Given the description of an element on the screen output the (x, y) to click on. 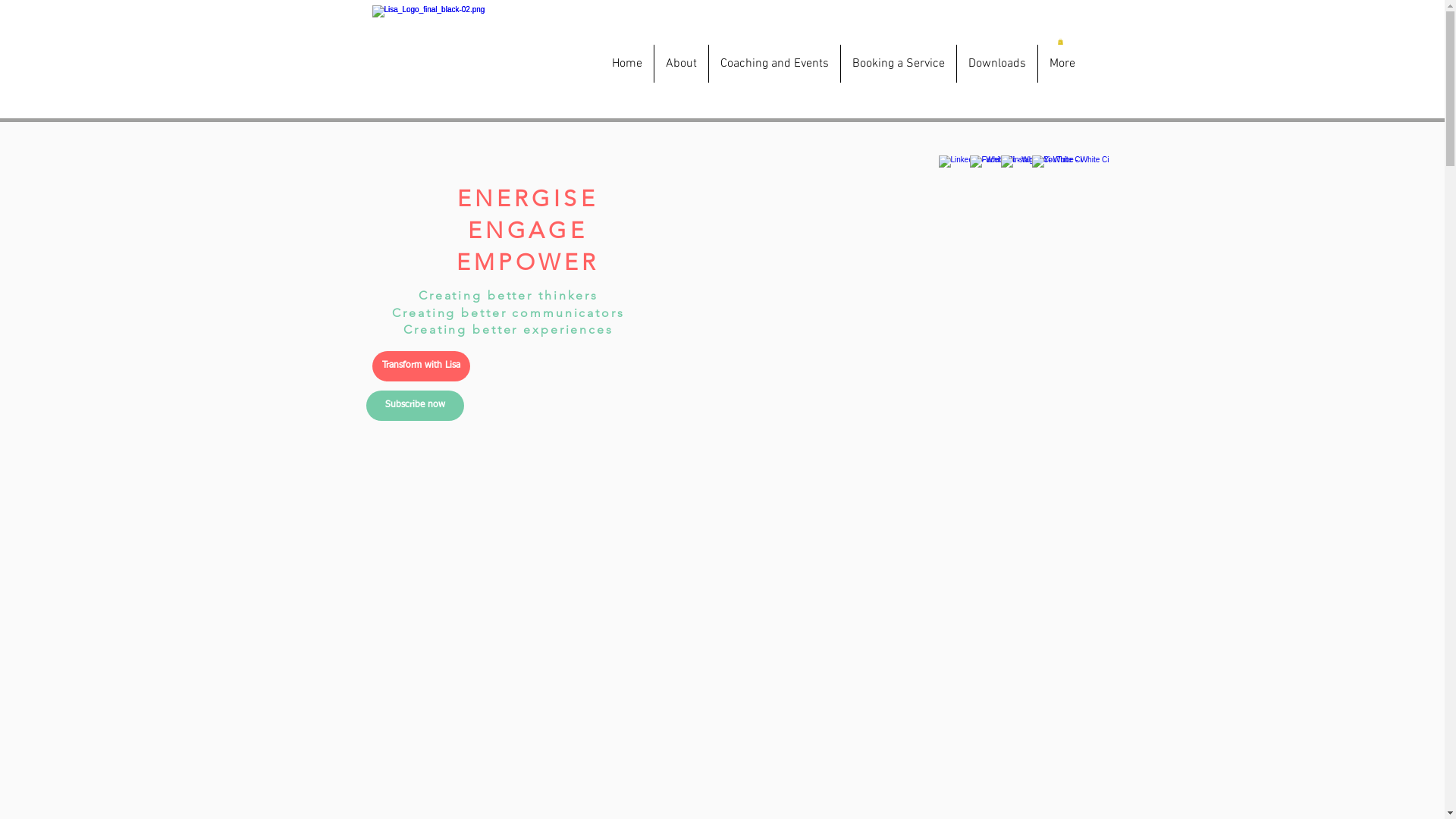
Subscribe now Element type: text (414, 405)
0 Element type: text (1059, 41)
Transform with Lisa Element type: text (420, 366)
About Element type: text (680, 63)
Coaching and Events Element type: text (773, 63)
Downloads Element type: text (997, 63)
Booking a Service Element type: text (897, 63)
Home Element type: text (626, 63)
